Given the description of an element on the screen output the (x, y) to click on. 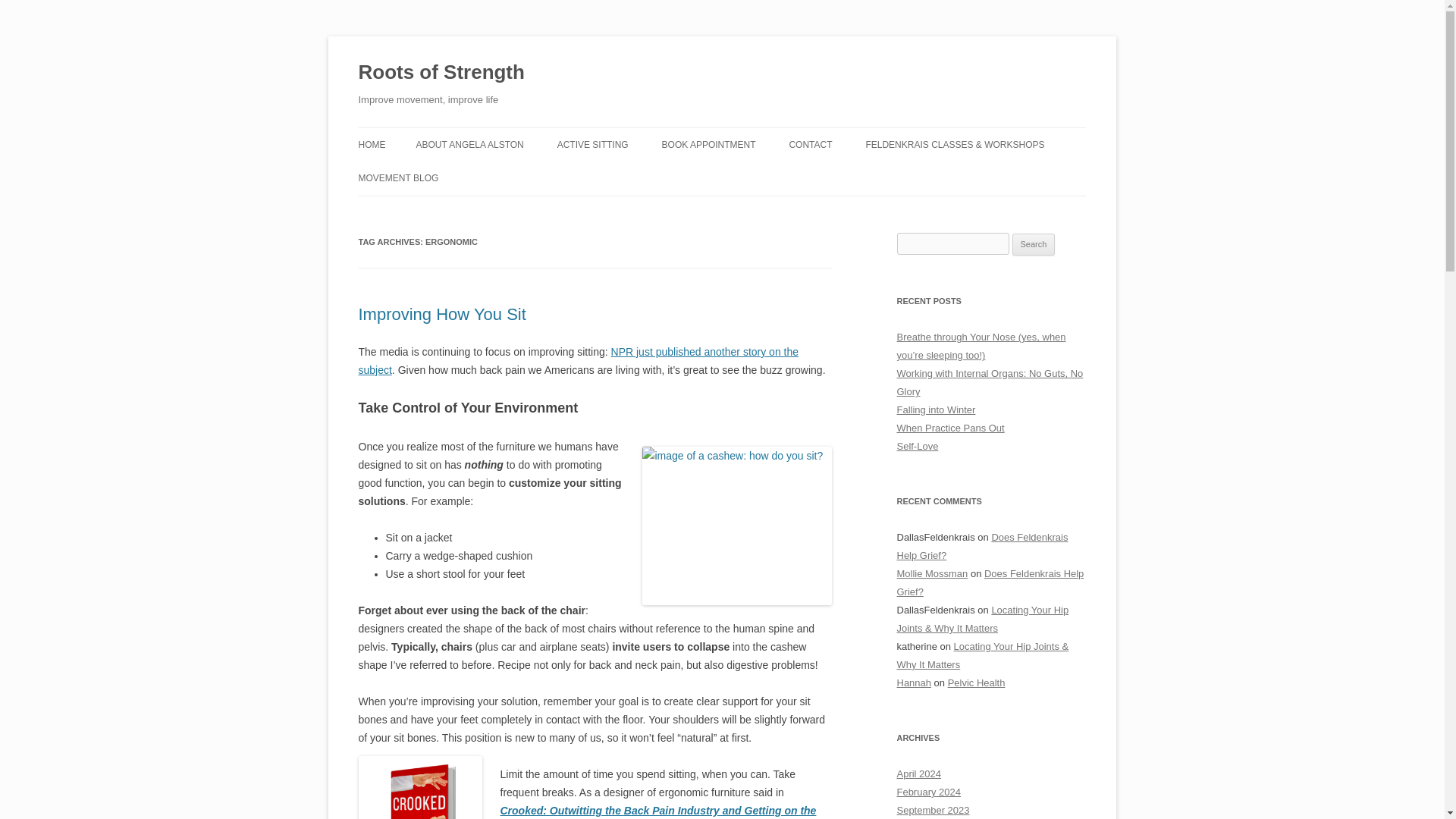
Search (1033, 244)
NPR just published another story on the subject (577, 360)
ABOUT ANGELA ALSTON (468, 144)
ACTIVE SITTING (592, 144)
CONTACT (810, 144)
Falling into Winter (935, 409)
Improving How You Sit (441, 313)
Working with Internal Organs: No Guts, No Glory (989, 382)
When Practice Pans Out (950, 428)
Roots of Strength (441, 72)
BOOK APPOINTMENT (708, 144)
Mollie Mossman (932, 573)
Does Feldenkrais Help Grief? (981, 546)
MOVEMENT BLOG (398, 177)
